Given the description of an element on the screen output the (x, y) to click on. 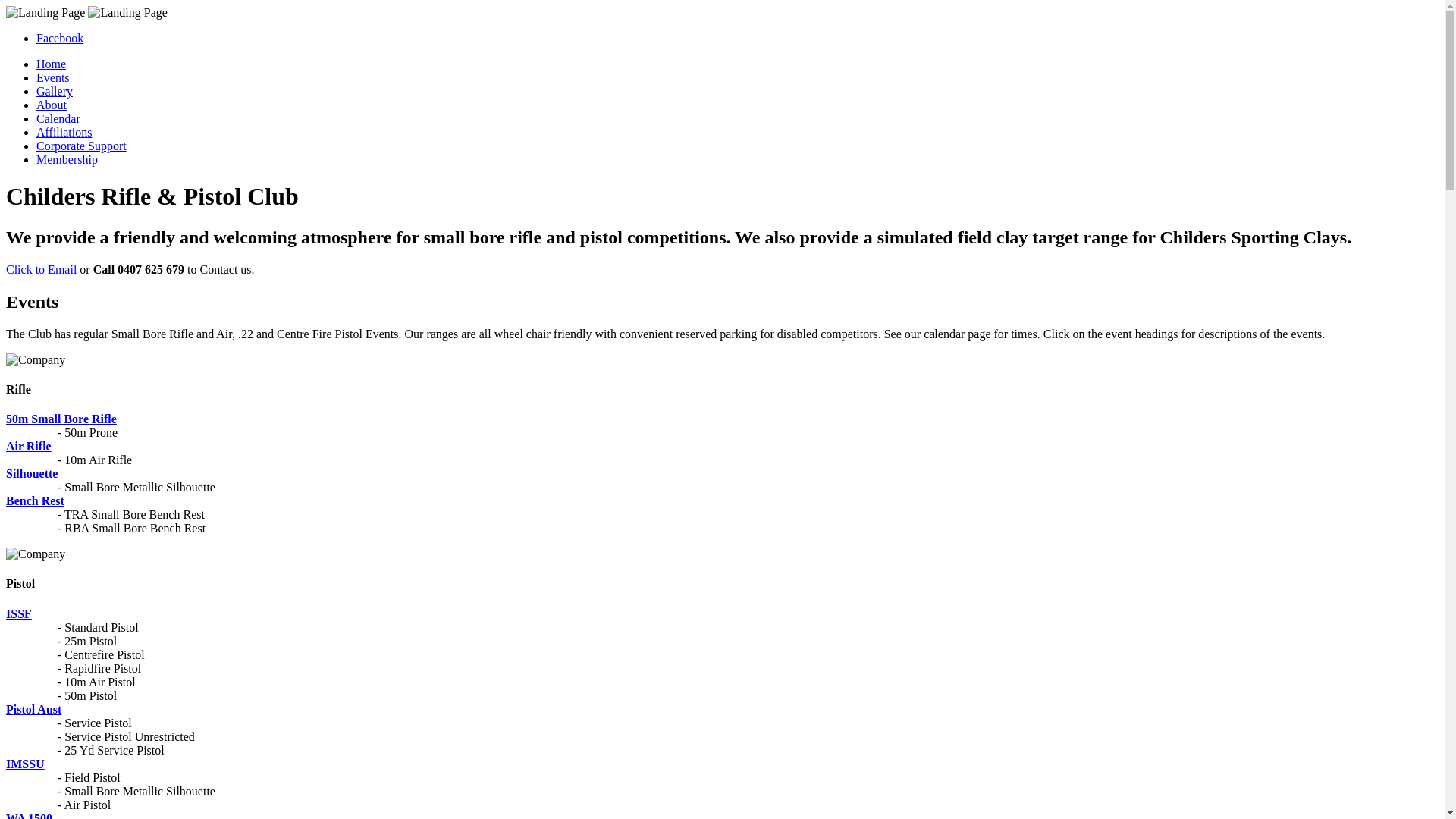
Silhouette Element type: text (31, 473)
Affiliations Element type: text (63, 131)
Corporate Support Element type: text (81, 145)
Calendar Element type: text (58, 118)
ISSF Element type: text (18, 613)
Facebook Element type: text (59, 37)
Air Rifle Element type: text (28, 445)
50m Small Bore Rifle Element type: text (61, 418)
Membership Element type: text (66, 159)
Home Element type: text (50, 63)
Bench Rest Element type: text (35, 500)
Events Element type: text (52, 77)
Gallery Element type: text (54, 90)
Pistol Aust Element type: text (33, 708)
Click to Email Element type: text (41, 269)
IMSSU Element type: text (25, 763)
About Element type: text (51, 104)
